Given the description of an element on the screen output the (x, y) to click on. 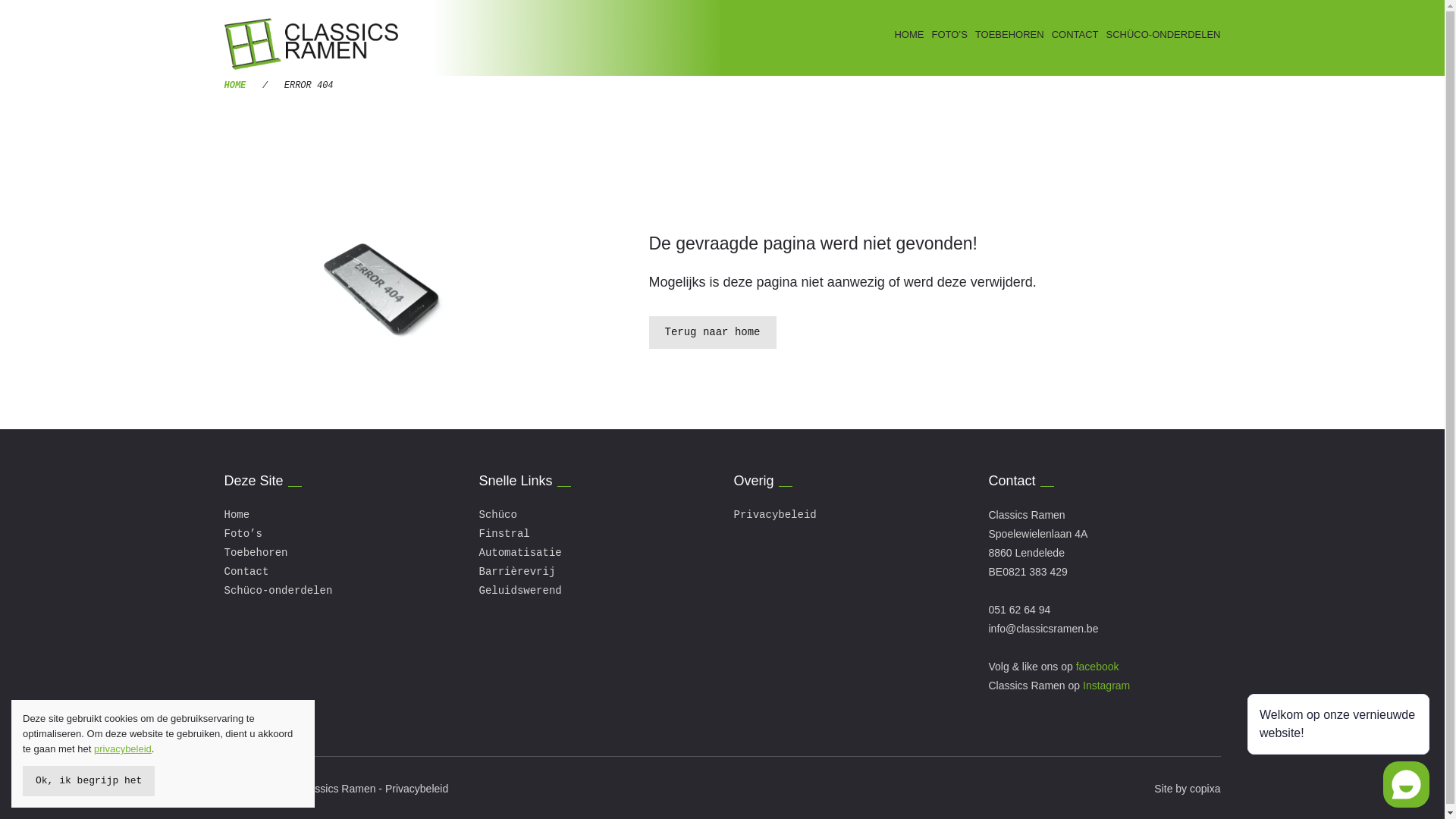
Toebehoren Element type: text (256, 552)
TOEBEHOREN Element type: text (1005, 34)
Terug naar home Element type: text (712, 332)
051 62 64 94 Element type: text (1019, 609)
CONTACT Element type: text (1071, 34)
HOME Element type: text (904, 34)
Automatisatie Element type: text (520, 552)
Geluidswerend Element type: text (520, 590)
HOME Element type: text (235, 85)
facebook Element type: text (1097, 666)
privacybeleid Element type: text (122, 748)
Contact Element type: text (246, 571)
Ok, ik begrijp het Element type: text (88, 780)
Finstral Element type: text (504, 533)
info@classicsramen.be Element type: text (1043, 628)
copixa Element type: text (1204, 788)
Home Element type: text (237, 514)
Privacybeleid Element type: text (775, 514)
Instagram Element type: text (1105, 685)
Privacybeleid Element type: text (416, 788)
